Given the description of an element on the screen output the (x, y) to click on. 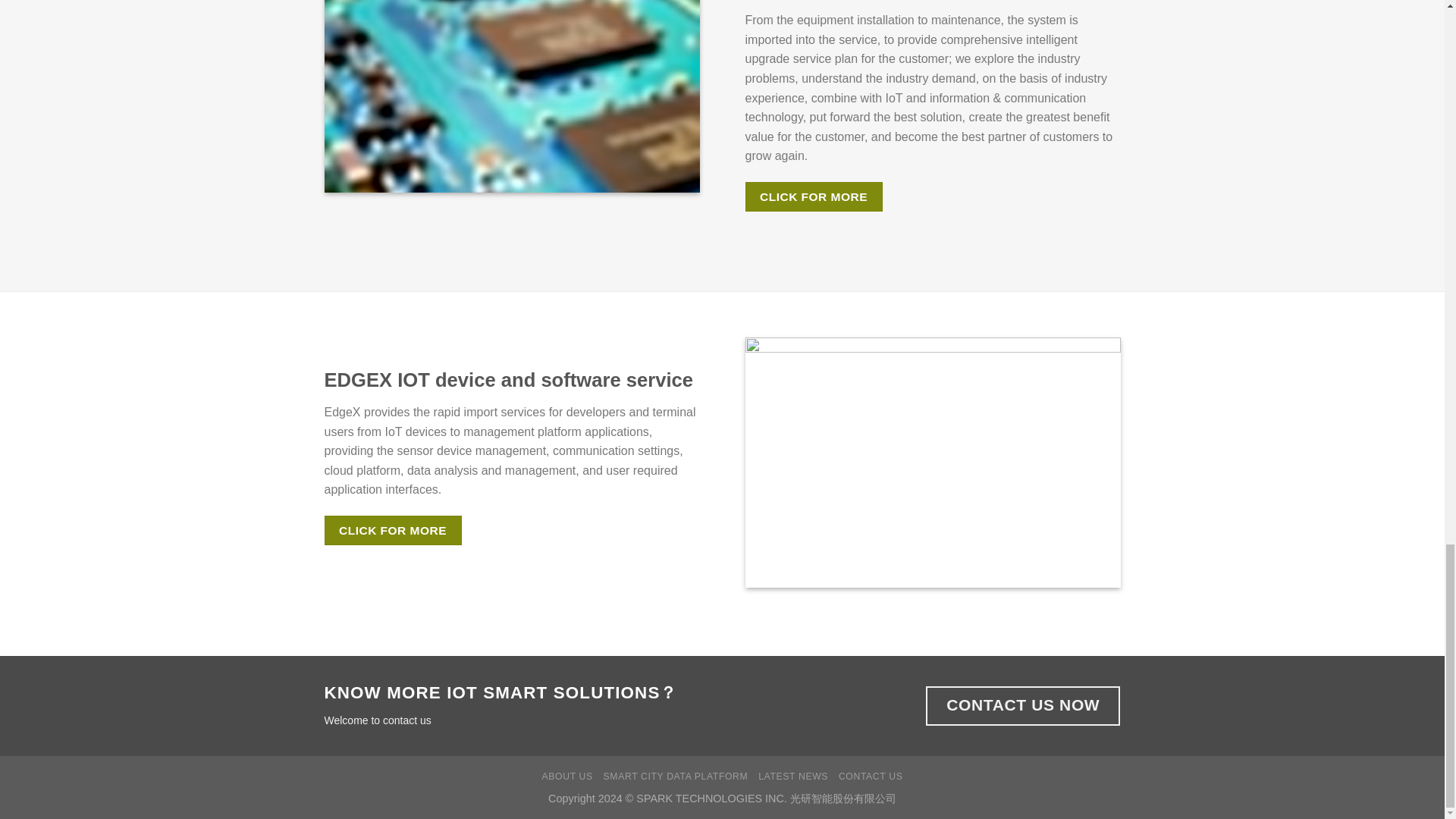
CONTACT US NOW (1022, 706)
CLICK FOR MORE (813, 196)
CLICK FOR MORE (392, 530)
